Given the description of an element on the screen output the (x, y) to click on. 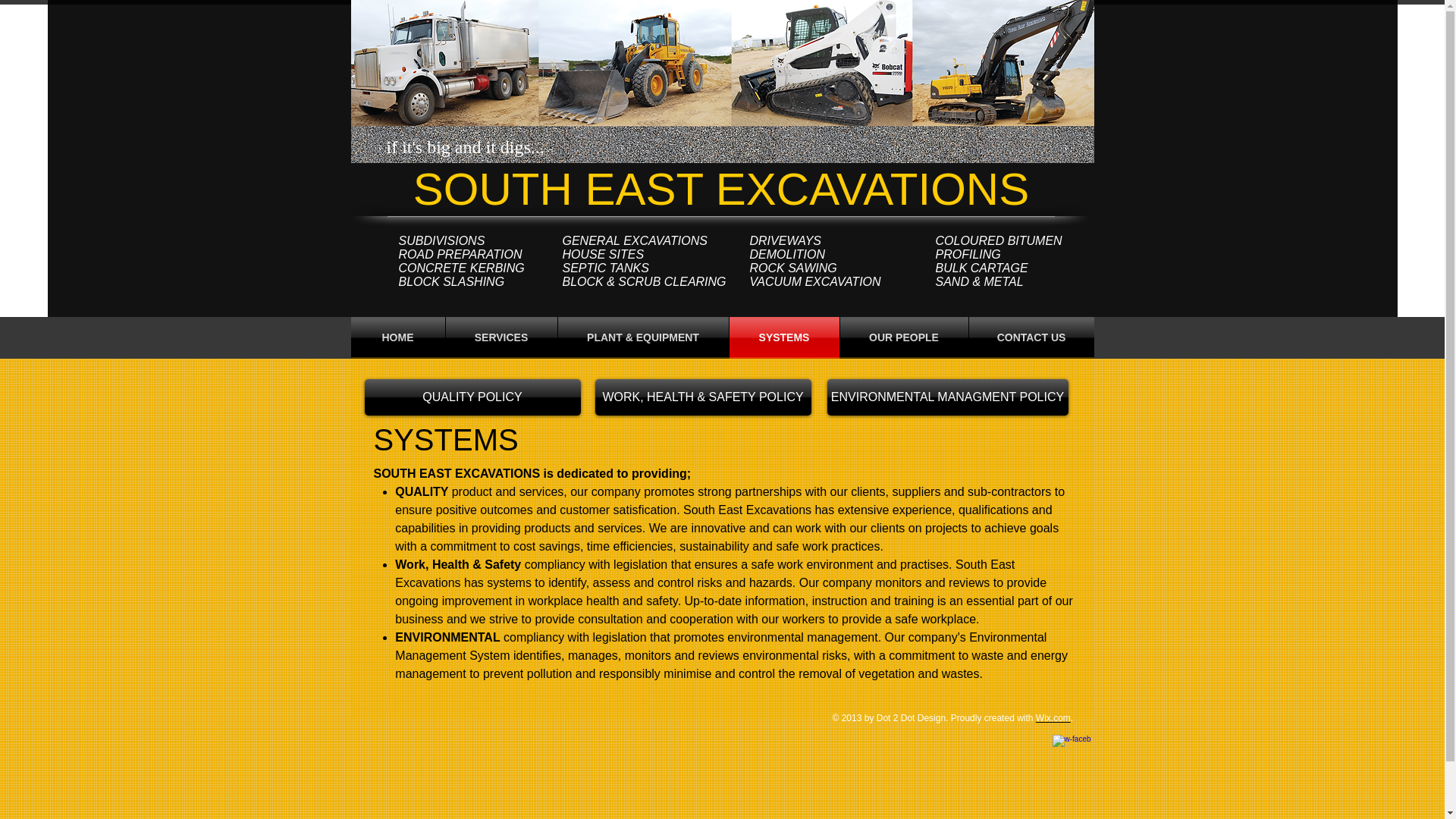
ROAD PREPARATION (460, 254)
ENVIRONMENTAL MANAGMENT POLICY (947, 397)
SUBDIVISIONS (441, 240)
SYSTEMS (784, 337)
CONTACT US (1031, 337)
HOME (397, 337)
QUALITY POLICY (471, 397)
SERVICES (501, 337)
OUR PEOPLE (904, 337)
